Given the description of an element on the screen output the (x, y) to click on. 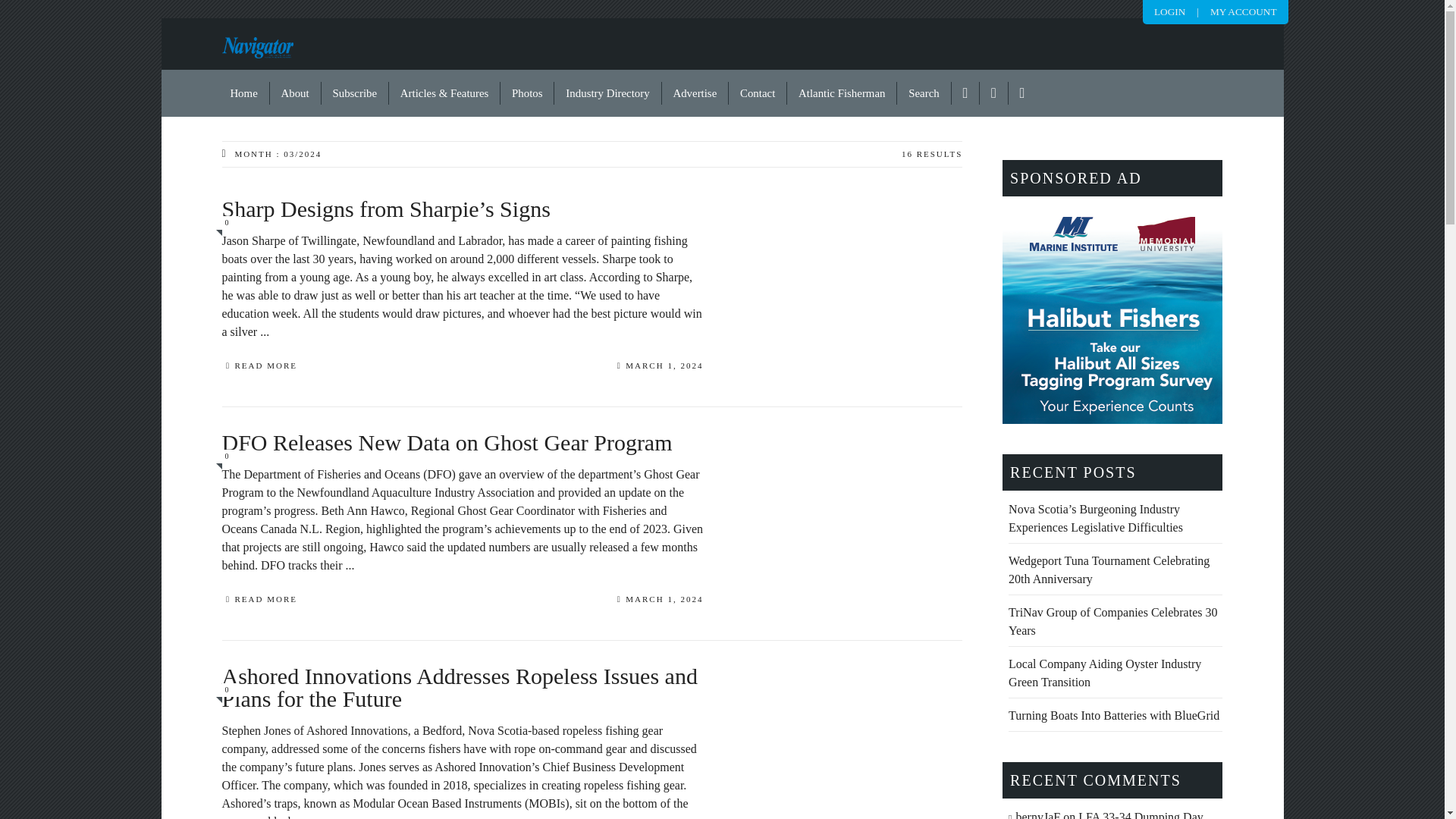
READ MORE (259, 600)
MY ACCOUNT (1242, 11)
About (295, 92)
Twitter (994, 92)
Contact (758, 92)
Home (243, 92)
Photos (527, 92)
MARCH 1, 2024 (660, 367)
Search (923, 92)
